Given the description of an element on the screen output the (x, y) to click on. 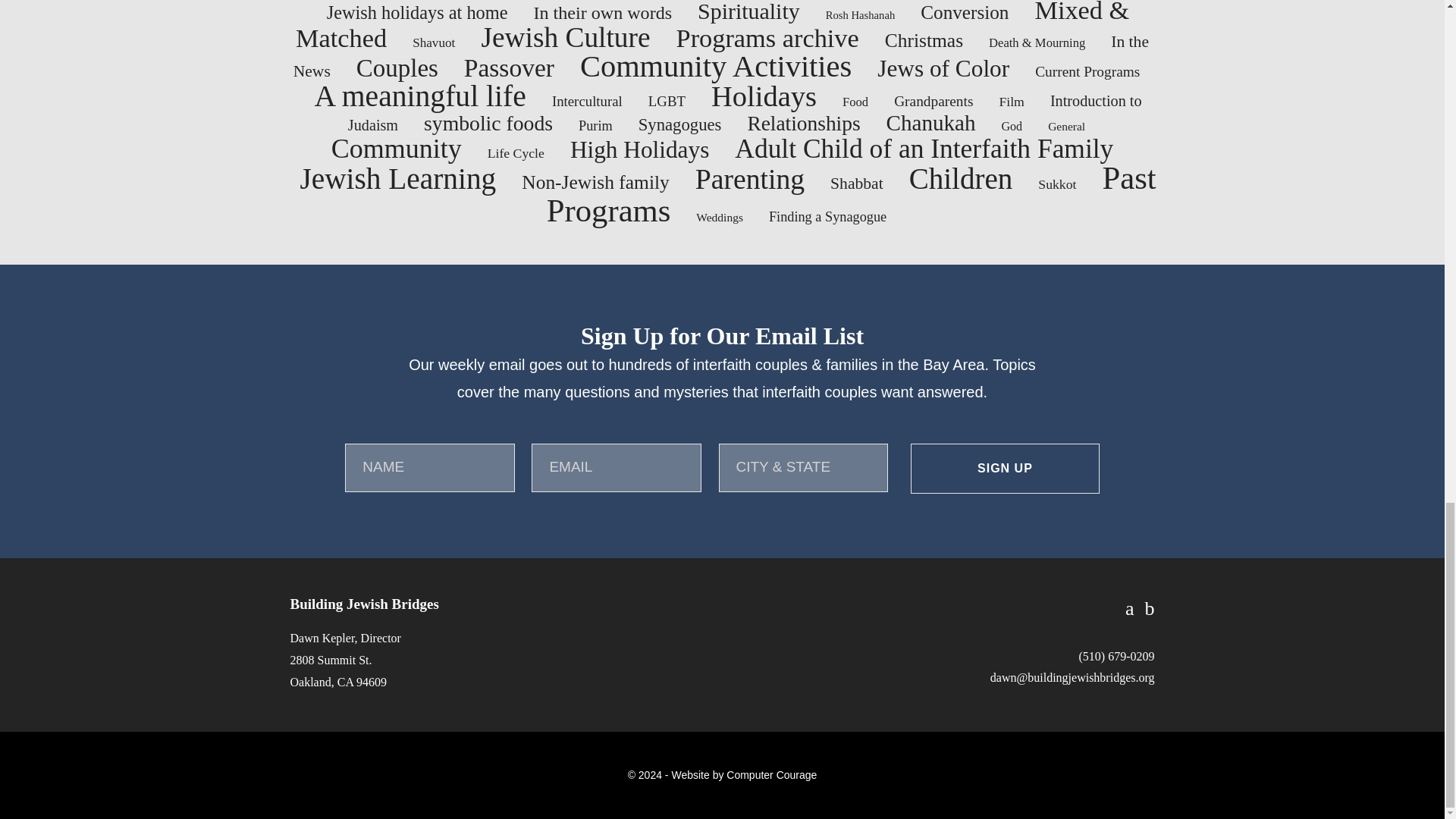
In their own words (603, 12)
Jewish Culture (564, 37)
In the News (721, 56)
Jewish holidays at home (417, 12)
Rosh Hashanah (860, 15)
Sign Up (1005, 468)
Programs archive (768, 37)
Conversion (964, 12)
Christmas (923, 40)
Passover (509, 67)
Couples (397, 67)
Spirituality (748, 11)
Community Activities (715, 66)
Shavuot (433, 42)
